Given the description of an element on the screen output the (x, y) to click on. 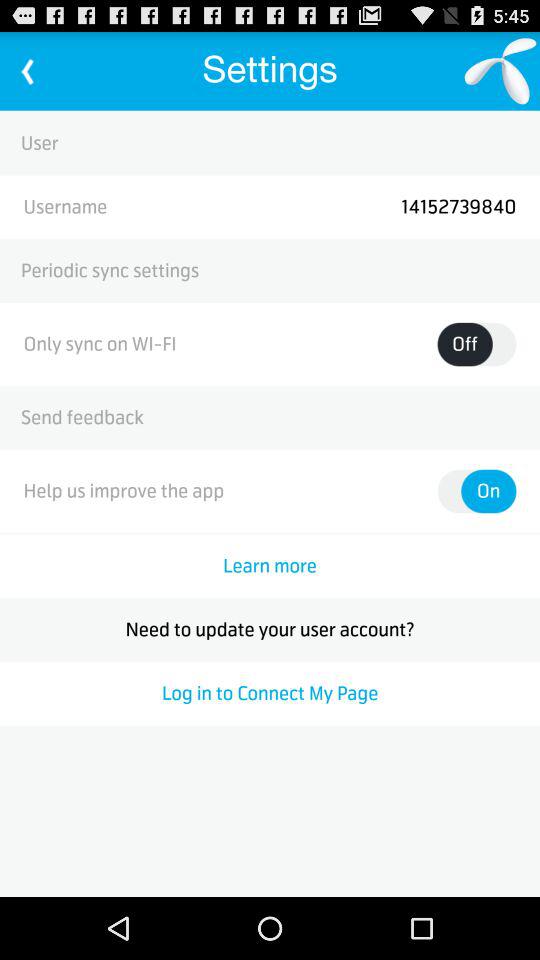
scroll until log in to icon (270, 693)
